Given the description of an element on the screen output the (x, y) to click on. 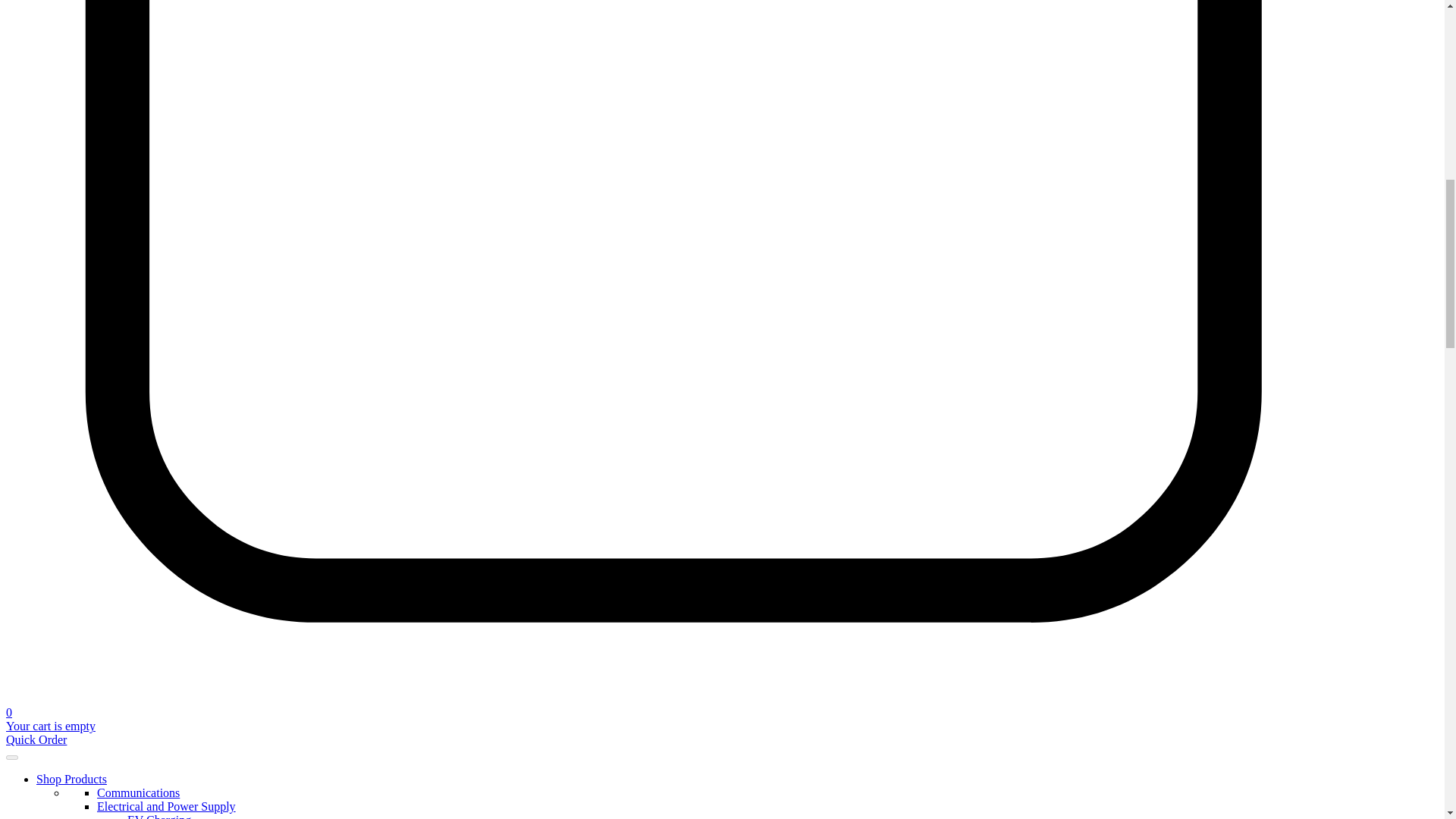
Your cart is empty (50, 725)
Quick Order (35, 739)
EV Charging (159, 816)
Communications (138, 792)
Electrical and Power Supply (166, 806)
Quick Order (35, 739)
Shop Products (71, 779)
